Given the description of an element on the screen output the (x, y) to click on. 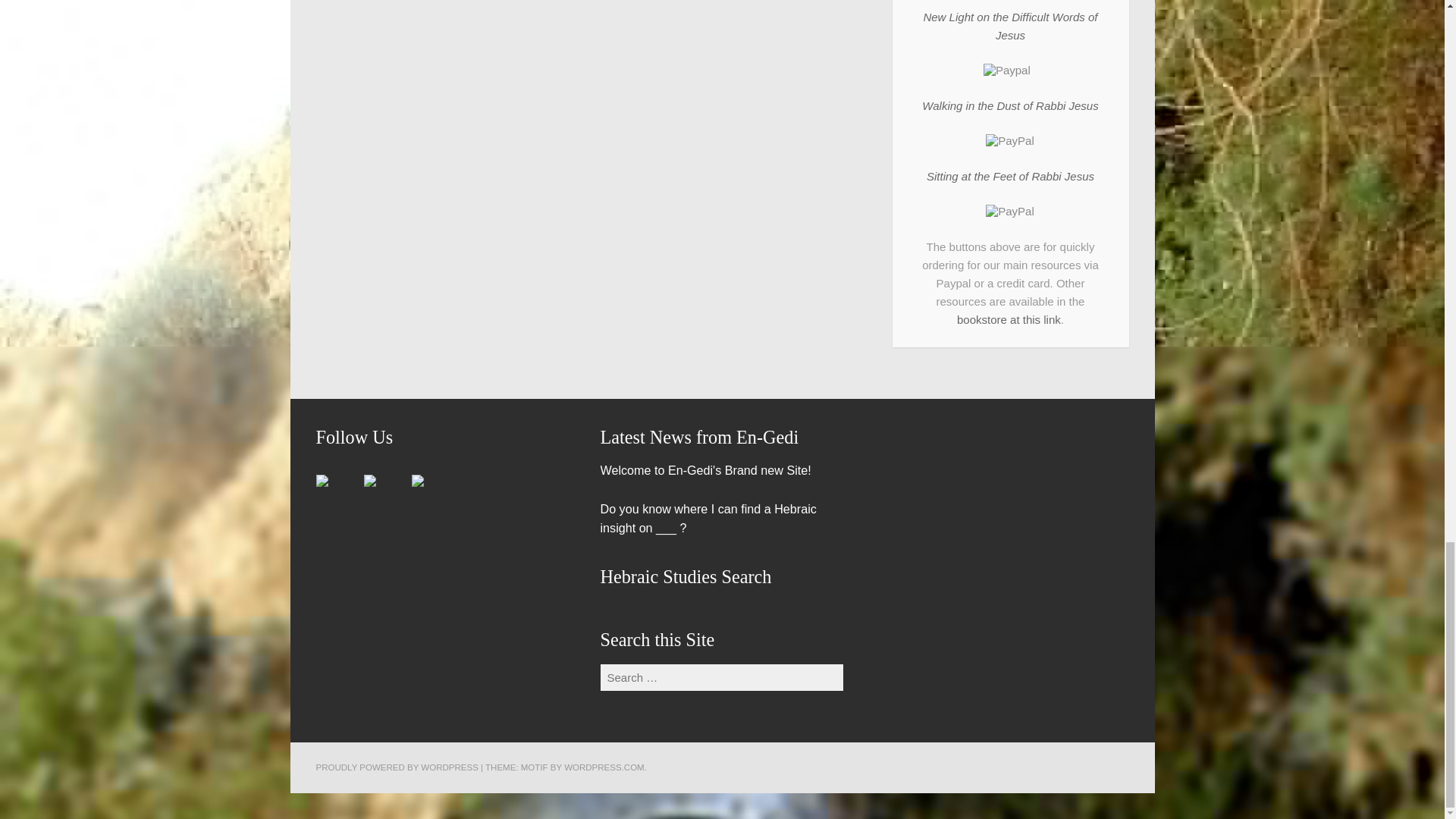
Follow us on Facebook (321, 480)
Follow us on Facebook (333, 493)
A Semantic Personal Publishing Platform (396, 767)
Find us on YouTube (428, 493)
Find us on YouTube (416, 480)
Follow us on Twitter (382, 493)
Follow us on Twitter (369, 480)
